Given the description of an element on the screen output the (x, y) to click on. 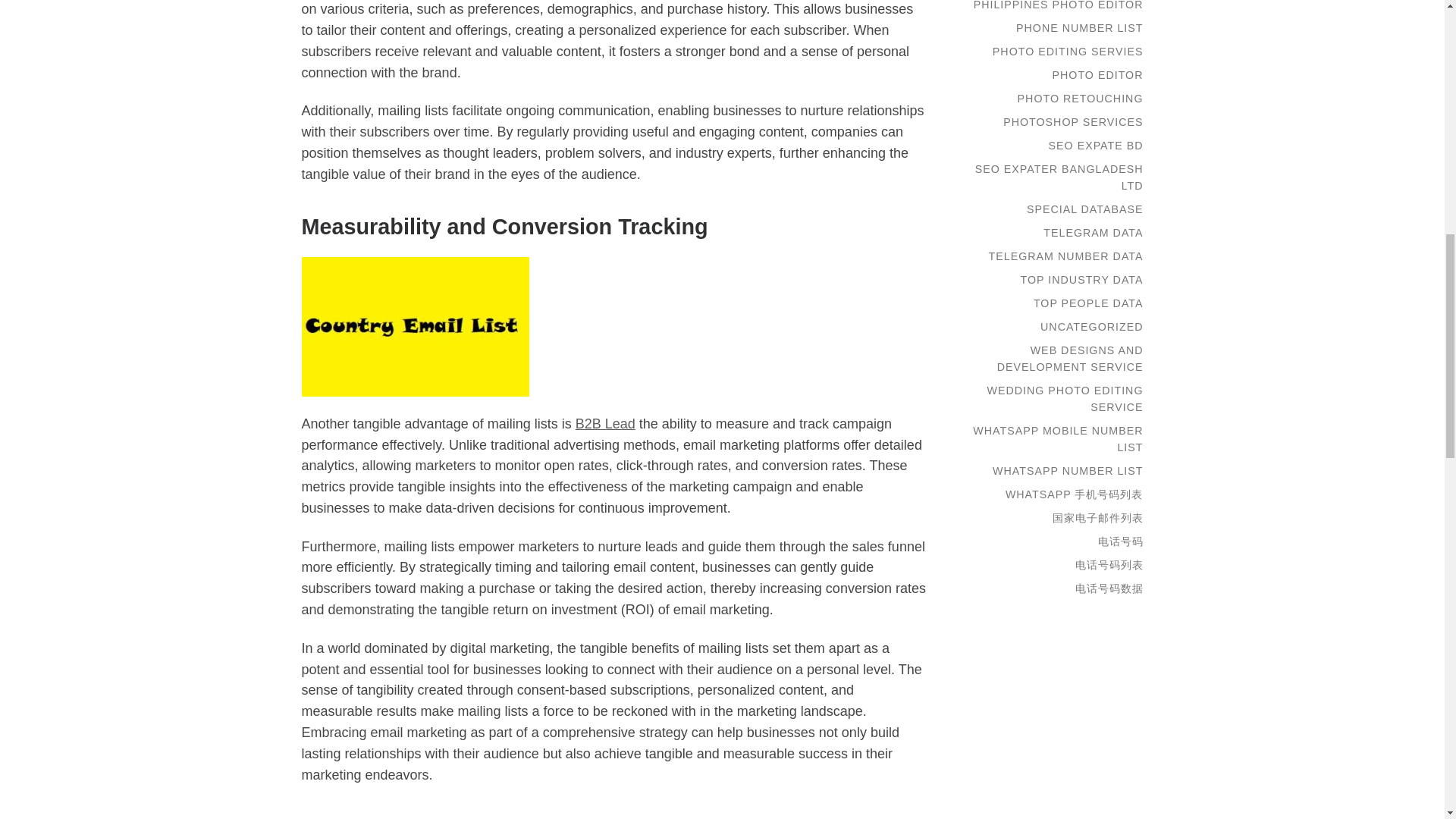
B2B Lead (604, 423)
